Given the description of an element on the screen output the (x, y) to click on. 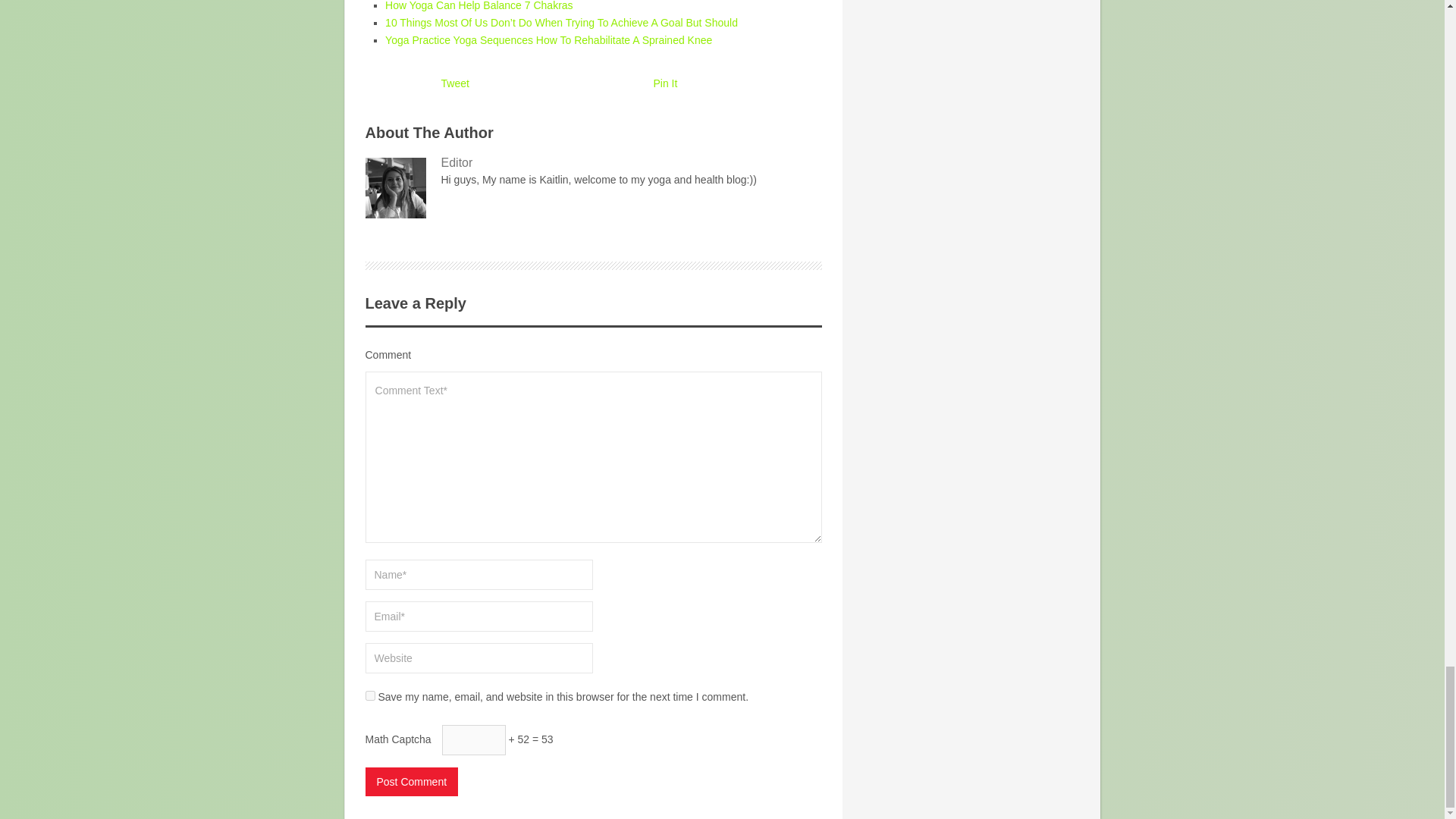
Tweet (454, 82)
yes (370, 696)
How Yoga Can Help Balance 7 Chakras (479, 5)
Post Comment (411, 781)
Pin It (665, 82)
How Yoga Can Help Balance 7 Chakras (479, 5)
Post Comment (411, 781)
Editor (593, 162)
